Given the description of an element on the screen output the (x, y) to click on. 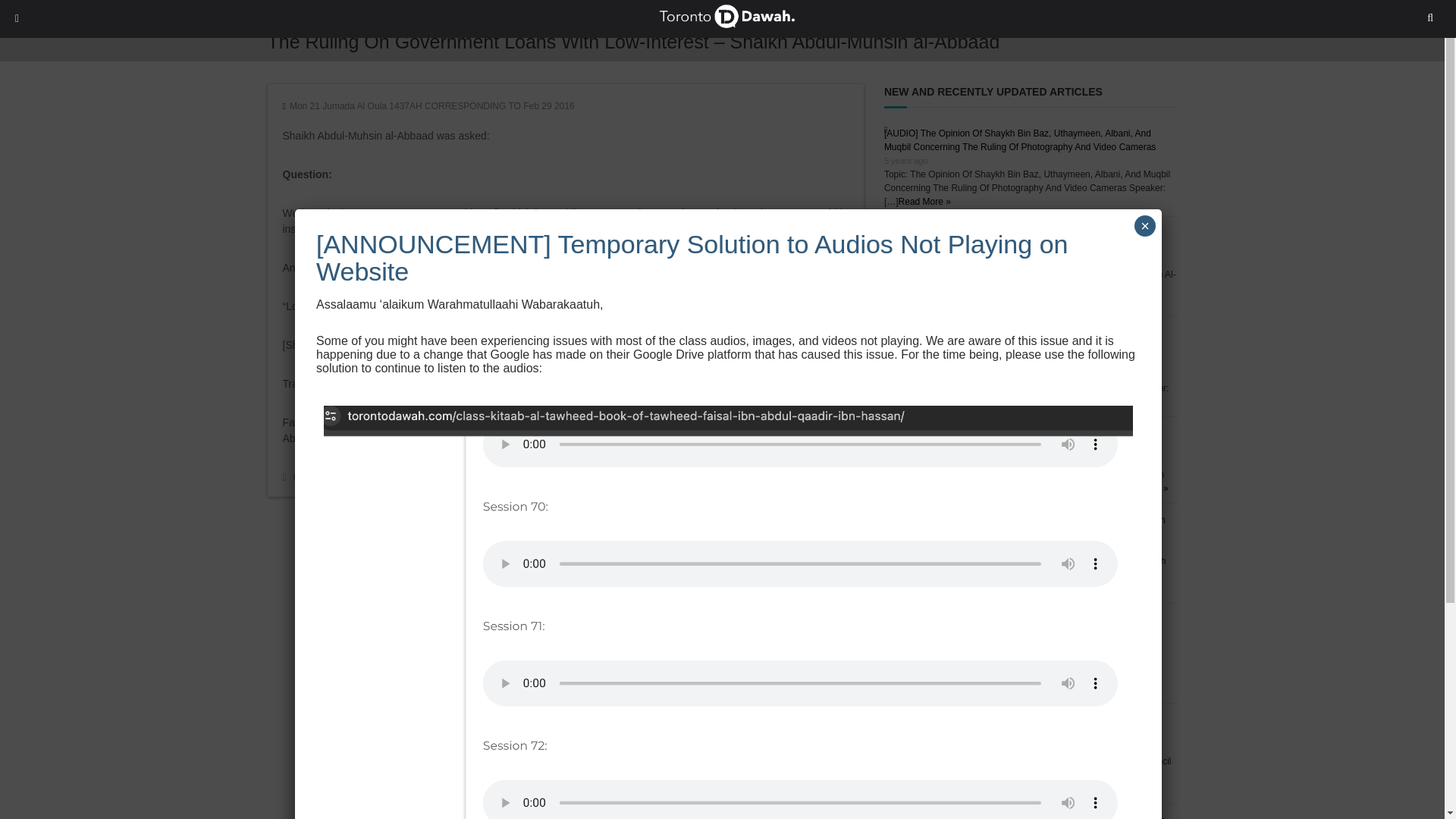
Worldly Affairs (528, 476)
Mon 21 Jumada Al Oula 1437AH CORRESPONDING TO Feb 29 2016 (432, 104)
Shaykh Abdul-Muhsin Al-Abbaad (428, 476)
